Given the description of an element on the screen output the (x, y) to click on. 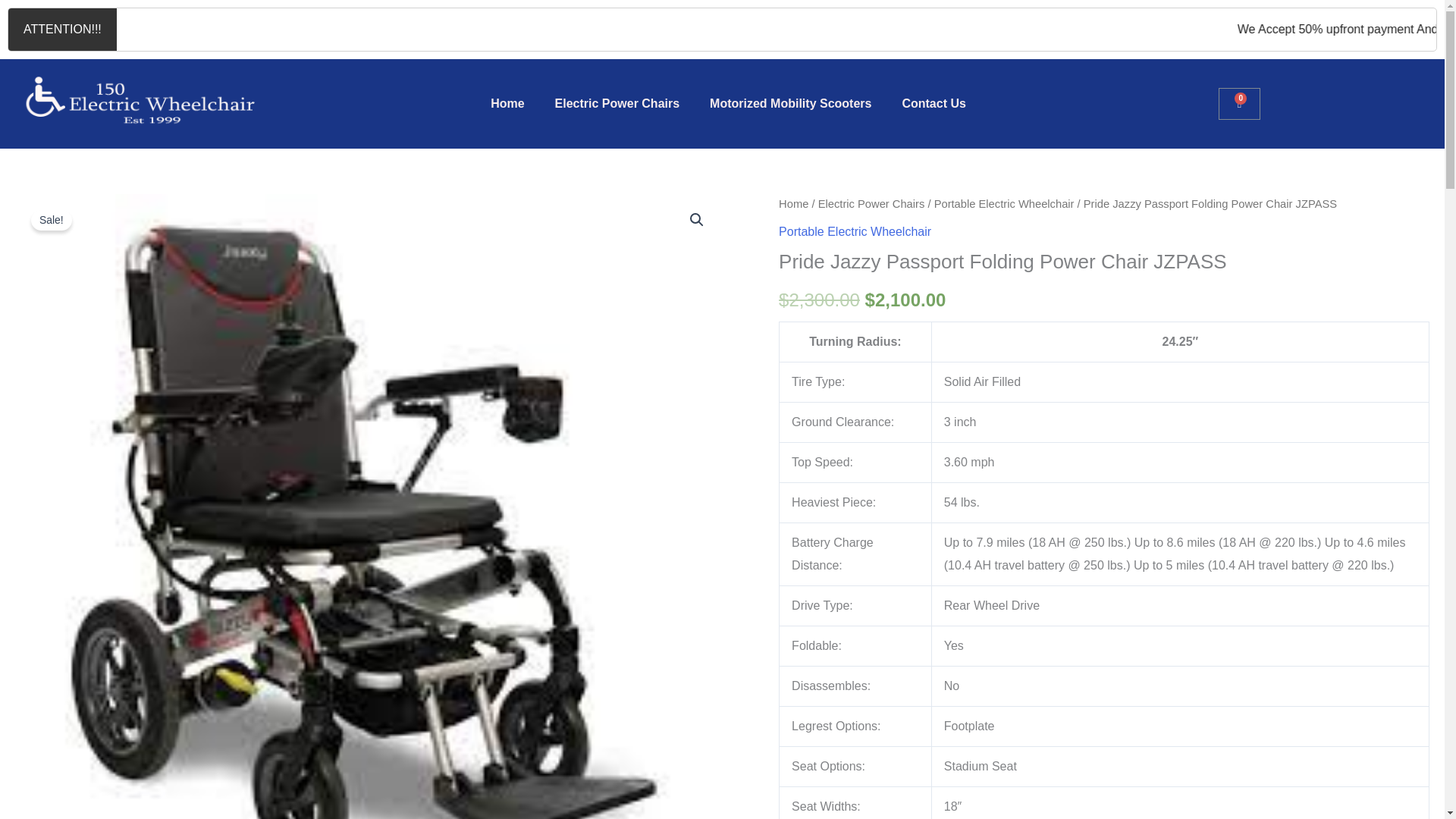
Home (793, 203)
Motorized Mobility Scooters (790, 103)
Home (507, 103)
Cart (1239, 103)
Electric Power Chairs (871, 203)
Electric Power Chairs (617, 103)
Contact Us (932, 103)
Portable Electric Wheelchair (854, 231)
Portable Electric Wheelchair (1004, 203)
